Given the description of an element on the screen output the (x, y) to click on. 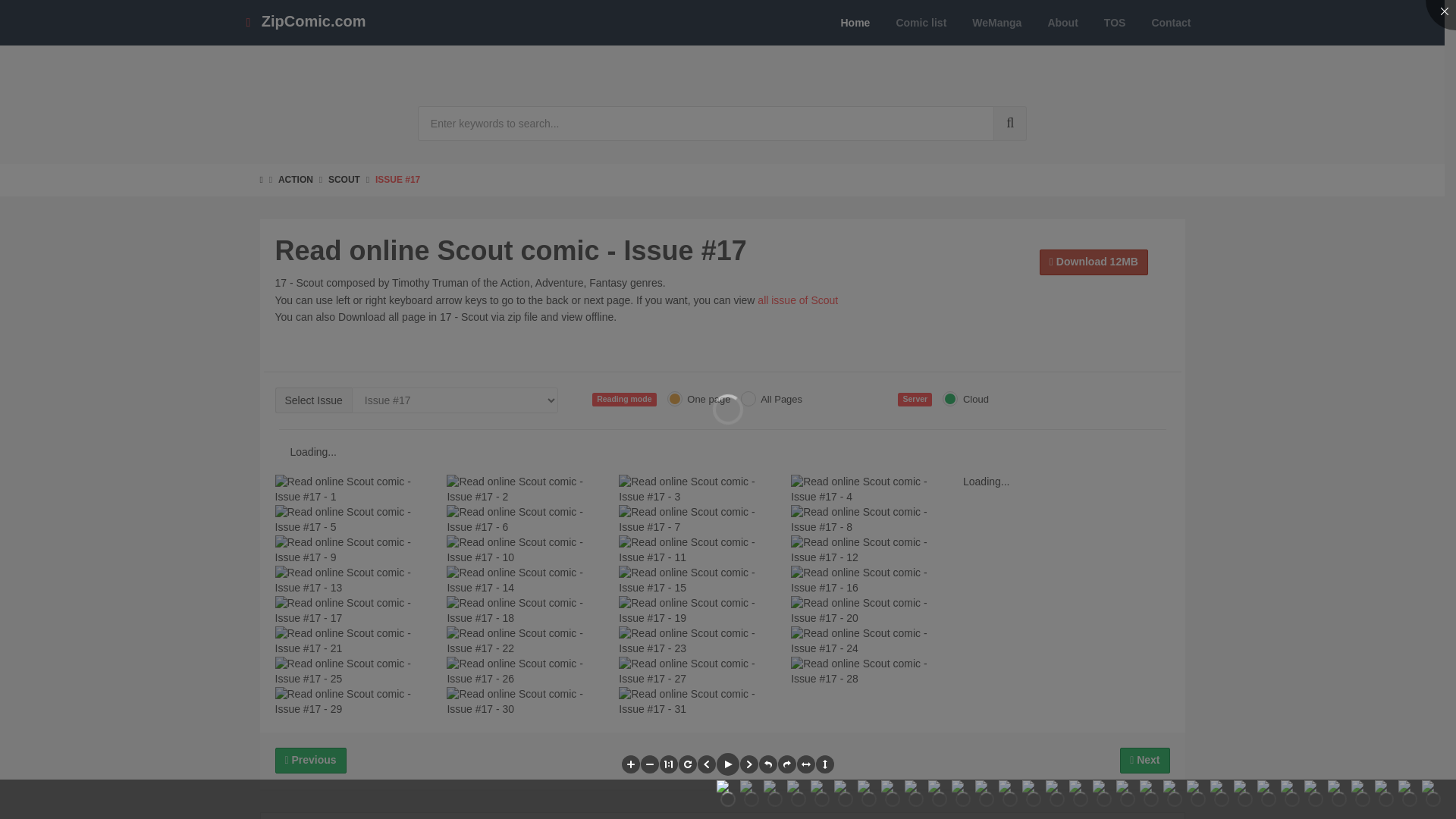
Previous (310, 760)
ACTION (295, 179)
  ZipComic.com (304, 22)
Download 12MB (1093, 262)
TOS (1114, 22)
Comic list (920, 22)
Contact (1170, 22)
Next (1144, 760)
all issue of Scout (797, 300)
Online read comic and download complete archive zip comic (304, 22)
